Given the description of an element on the screen output the (x, y) to click on. 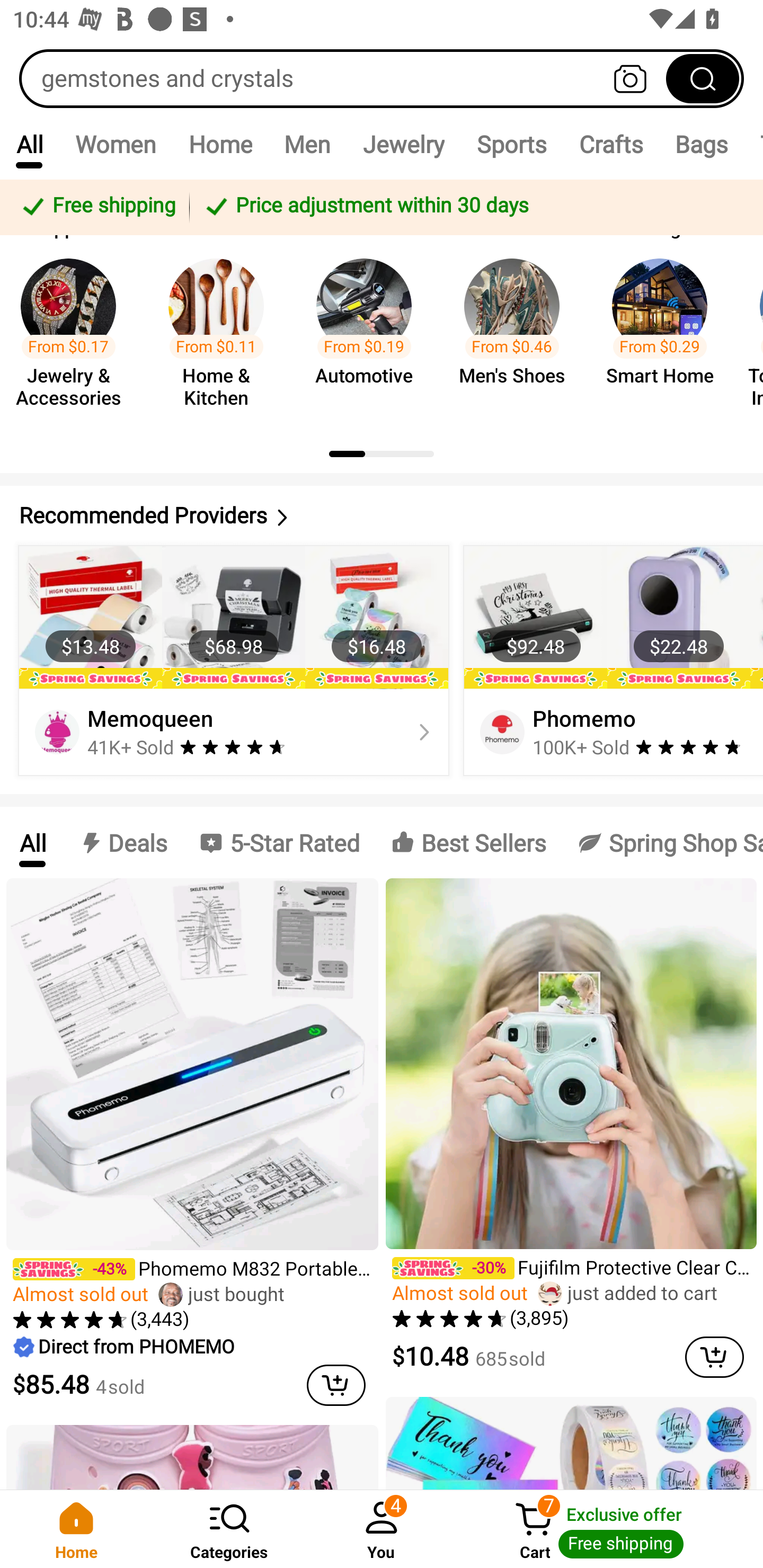
gemstones and crystals (381, 78)
All (29, 144)
Women (115, 144)
Home (219, 144)
Men (306, 144)
Jewelry (403, 144)
Sports (511, 144)
Crafts (611, 144)
Bags (701, 144)
Free shipping (97, 206)
Price adjustment within 30 days (472, 206)
From $0.17 Jewelry & Accessories (74, 335)
From $0.11 Home & Kitchen (222, 335)
From $0.19 Automotive (369, 335)
From $0.46 Men's Shoes (517, 335)
From $0.29 Smart Home (665, 335)
Recommended Providers (381, 515)
$13.48 $68.98 $16.48 Memoqueen 41K+ Sold (233, 659)
$92.48 $22.48 Phomemo 100K+ Sold (610, 659)
All (32, 842)
Deals Deals Deals (122, 842)
5-Star Rated 5-Star Rated 5-Star Rated (279, 842)
Best Sellers Best Sellers Best Sellers (468, 842)
Spring Shop Save Spring Shop Save Spring Shop Save (662, 842)
cart delete (714, 1356)
cart delete (335, 1385)
Home (76, 1528)
Categories (228, 1528)
You 4 You (381, 1528)
Cart 7 Cart Exclusive offer (610, 1528)
